Given the description of an element on the screen output the (x, y) to click on. 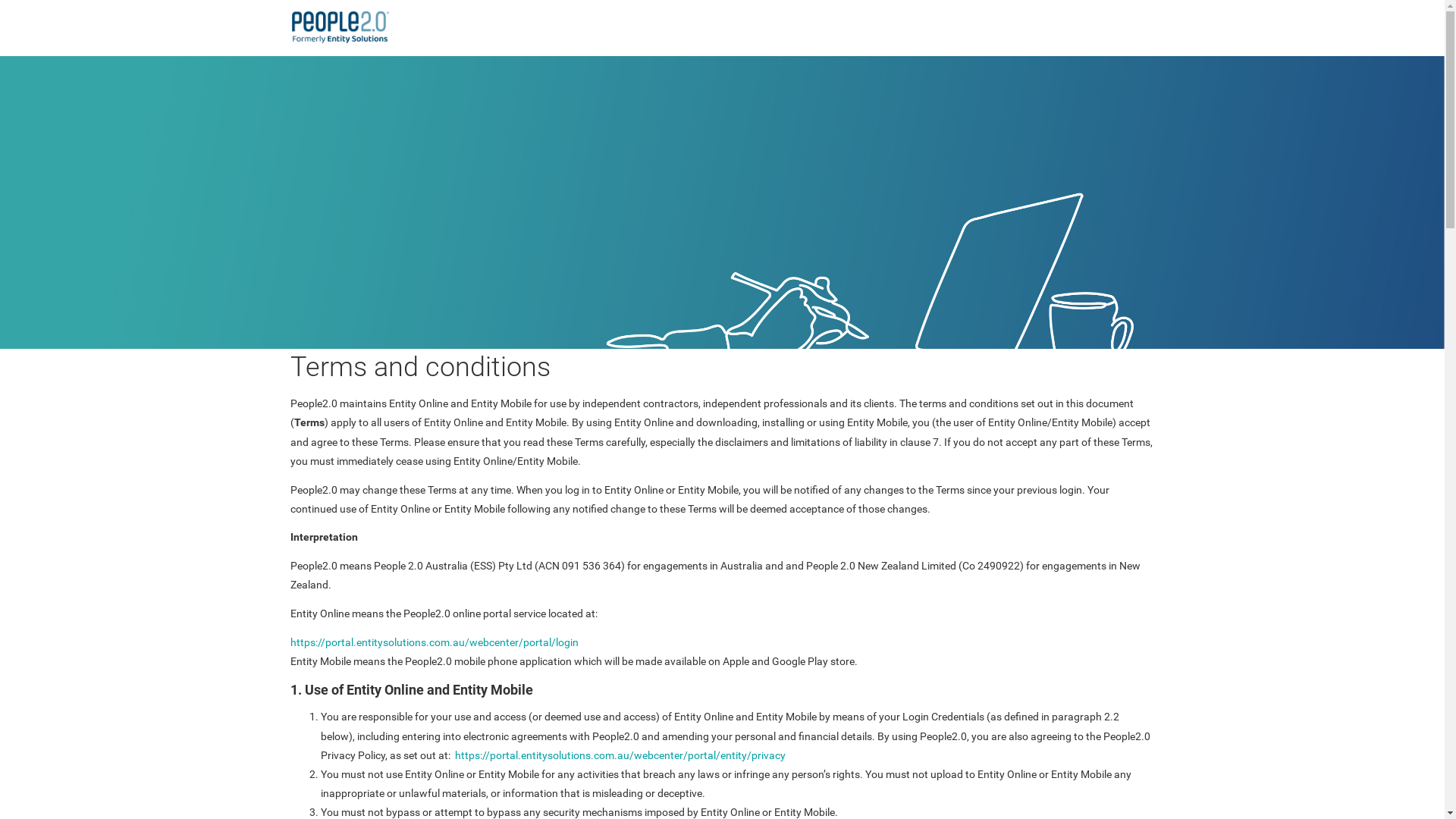
https://portal.entitysolutions.com.au/webcenter/portal/login Element type: text (433, 642)
